Given the description of an element on the screen output the (x, y) to click on. 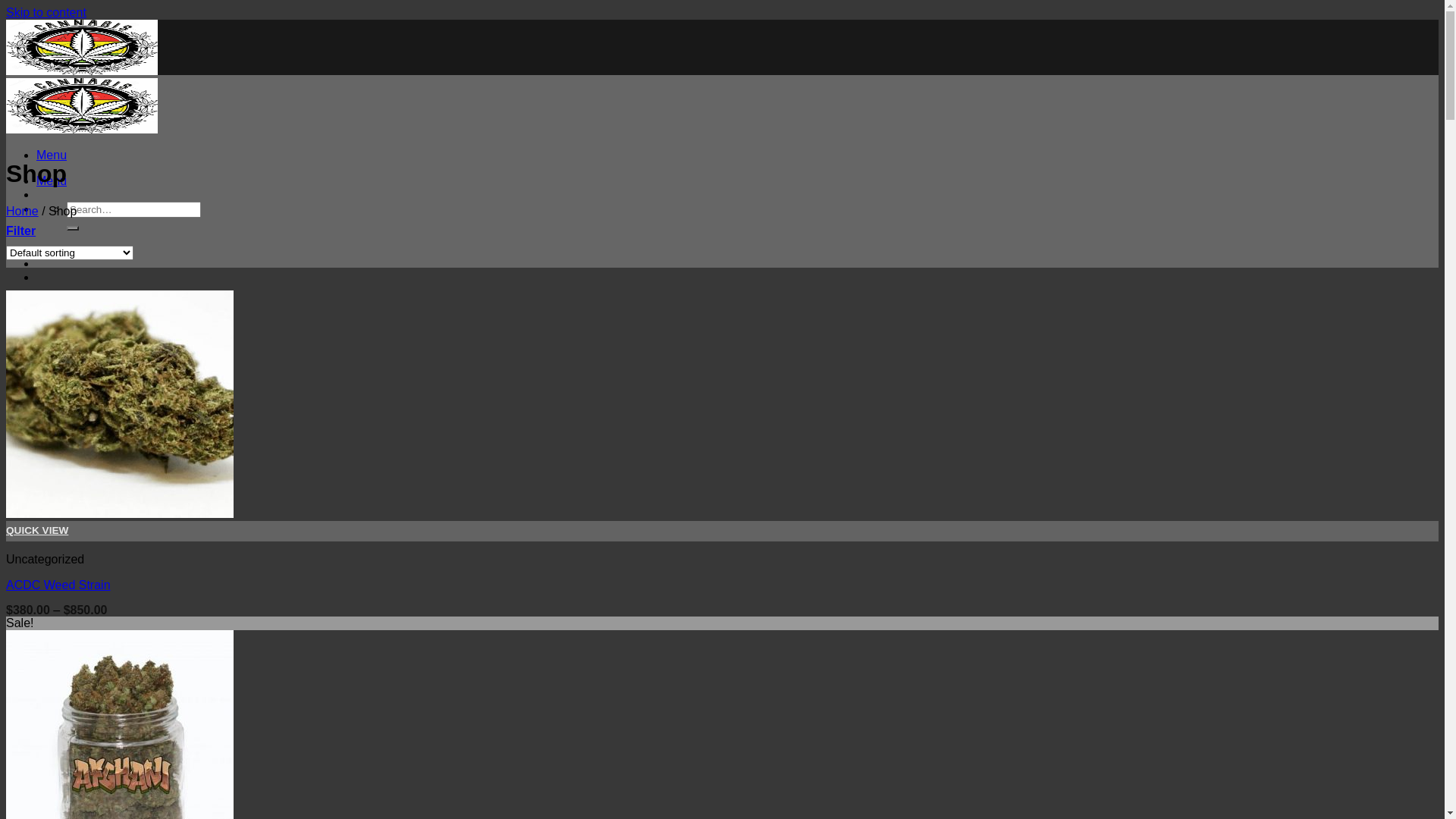
420 Psychedelics Store -  Element type: hover (81, 99)
Skip to content Element type: text (46, 12)
ACDC Weed Strain Element type: text (58, 584)
Menu Element type: text (51, 180)
Filter Element type: text (20, 231)
Home Element type: text (22, 210)
Menu Element type: text (51, 154)
QUICK VIEW Element type: text (722, 530)
